Given the description of an element on the screen output the (x, y) to click on. 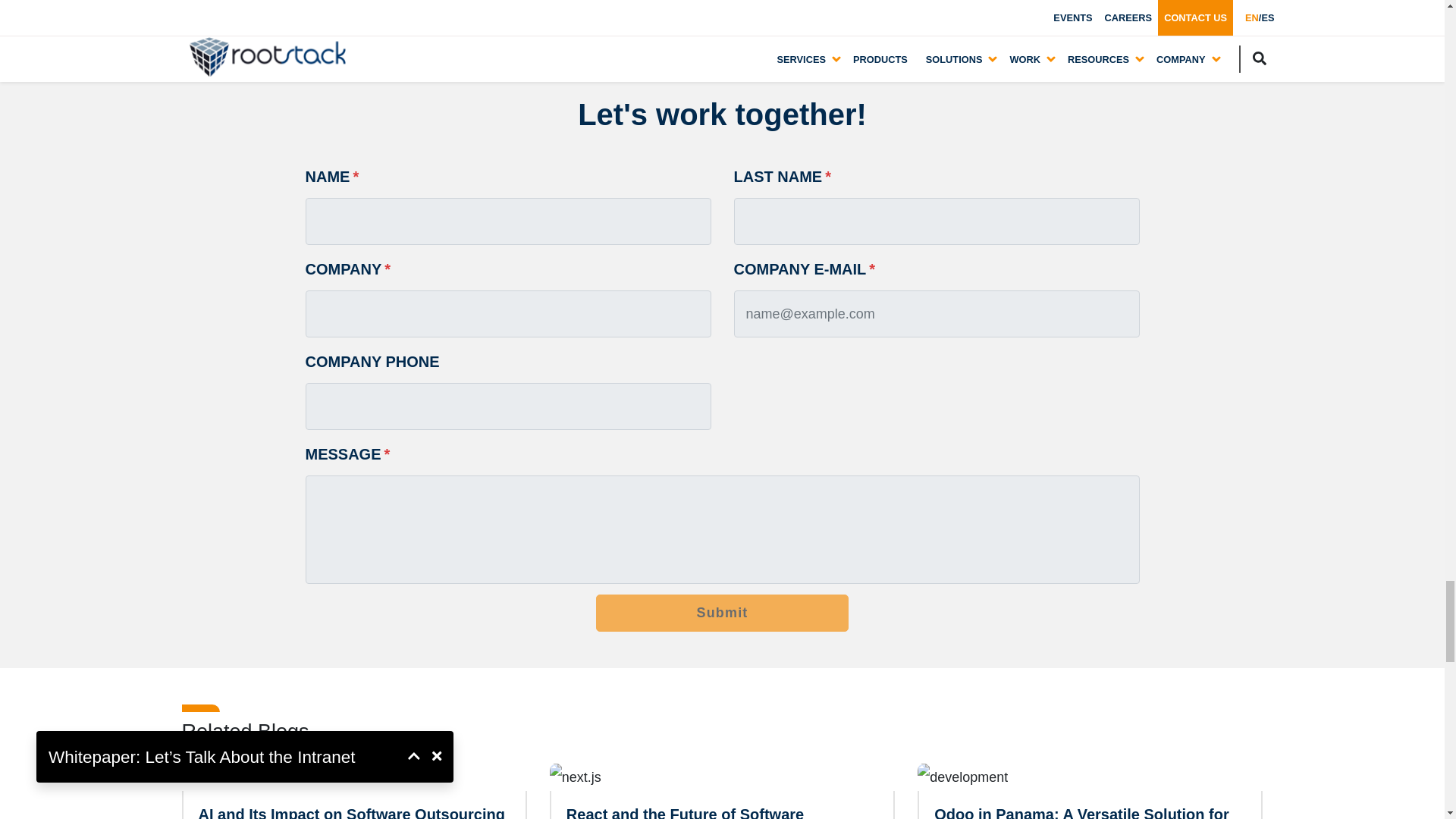
next.js (575, 777)
String only field (507, 221)
Company (507, 313)
chatbots (214, 777)
development (962, 777)
Company phone (507, 406)
String only field (936, 221)
Submit (721, 612)
